Given the description of an element on the screen output the (x, y) to click on. 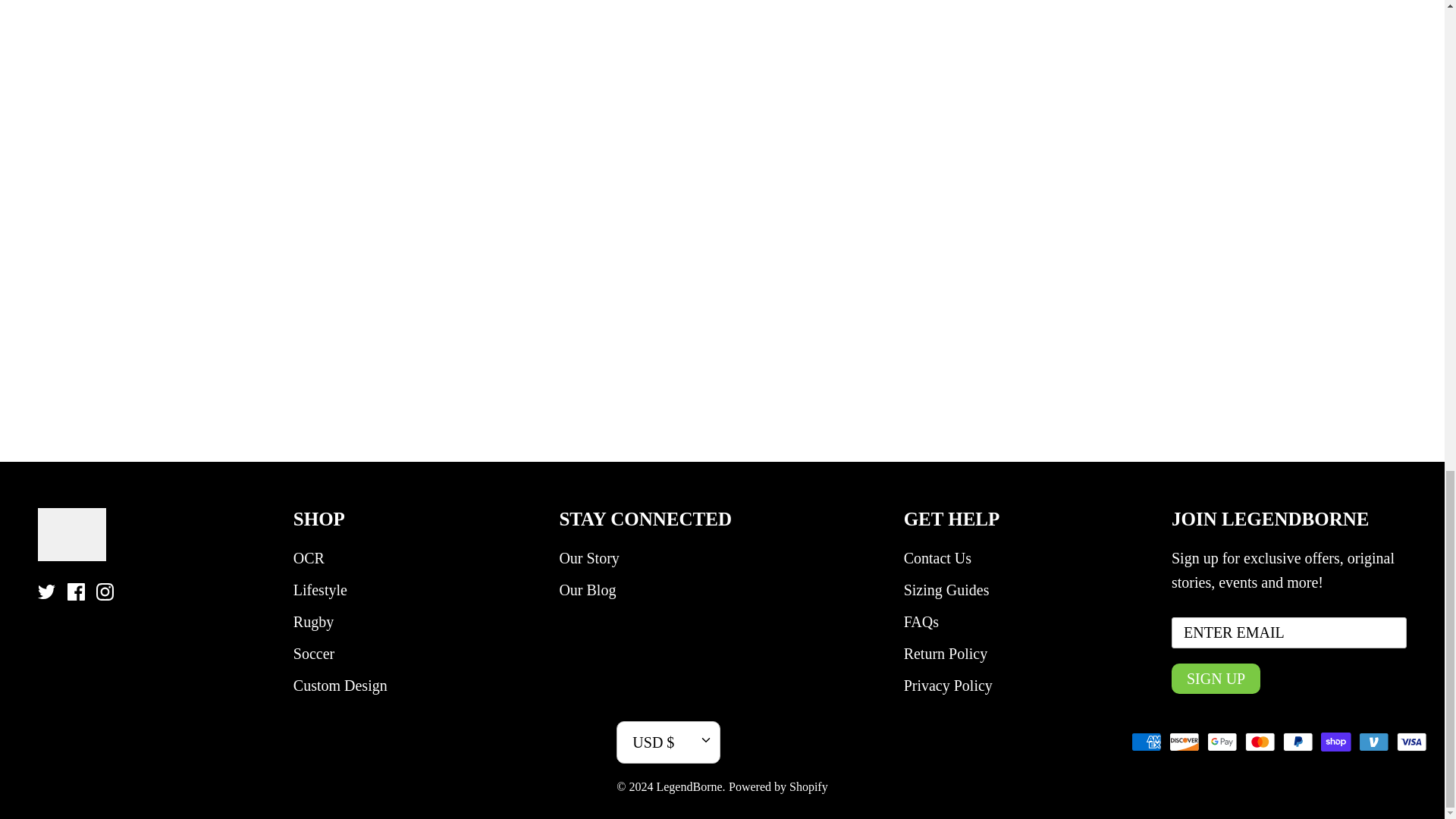
PayPal (1297, 741)
Visa (1411, 741)
Mastercard (1259, 741)
Google Pay (1222, 741)
Twitter (46, 591)
Down (705, 739)
Instagram (104, 591)
Shop Pay (1335, 741)
American Express (1146, 741)
Discover (1184, 741)
